Given the description of an element on the screen output the (x, y) to click on. 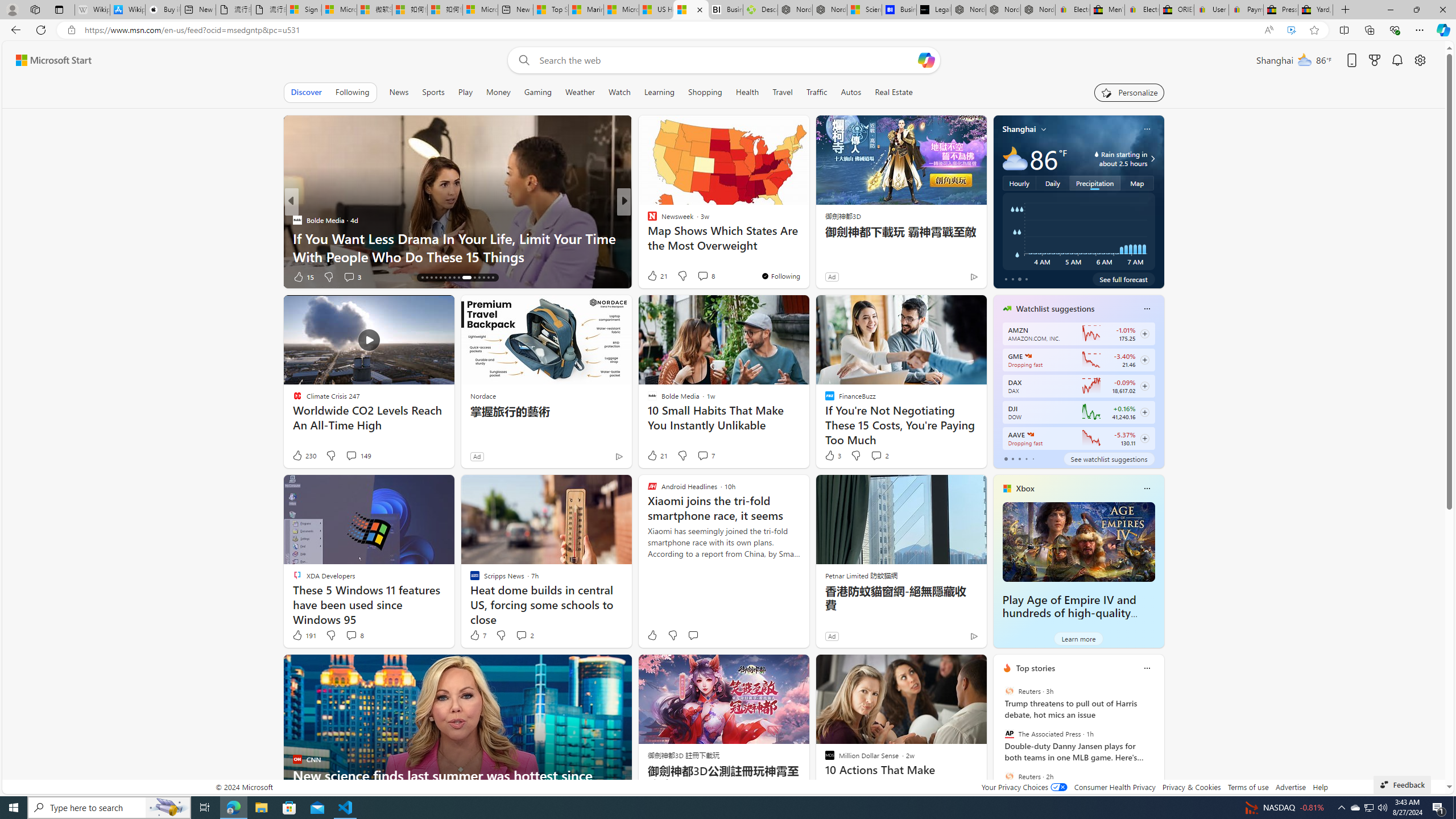
Autos (850, 92)
Enhance video (1291, 29)
View comments 149 Comment (350, 455)
7 Like (477, 634)
Learn more (1078, 638)
Shanghai (1018, 128)
tab-2 (1019, 458)
611 Like (654, 276)
Rain starting in about 2.5 hours (1150, 158)
Terms of use (1247, 786)
